Given the description of an element on the screen output the (x, y) to click on. 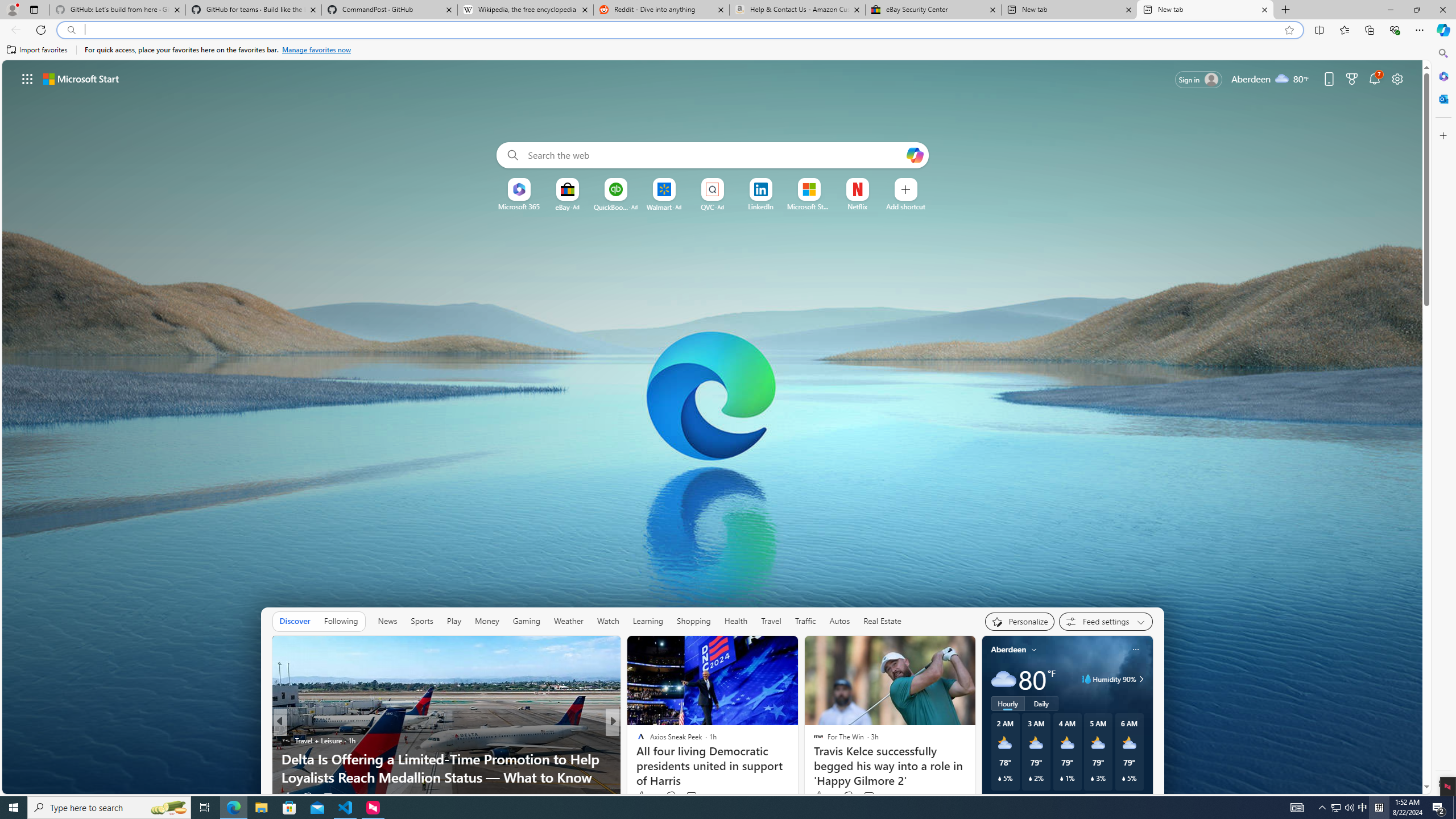
View comments 31 Comment (696, 796)
My location (1033, 649)
View comments 31 Comment (691, 797)
1k Like (641, 796)
Autos (839, 621)
House Digest (635, 740)
Microsoft start (81, 78)
